Given the description of an element on the screen output the (x, y) to click on. 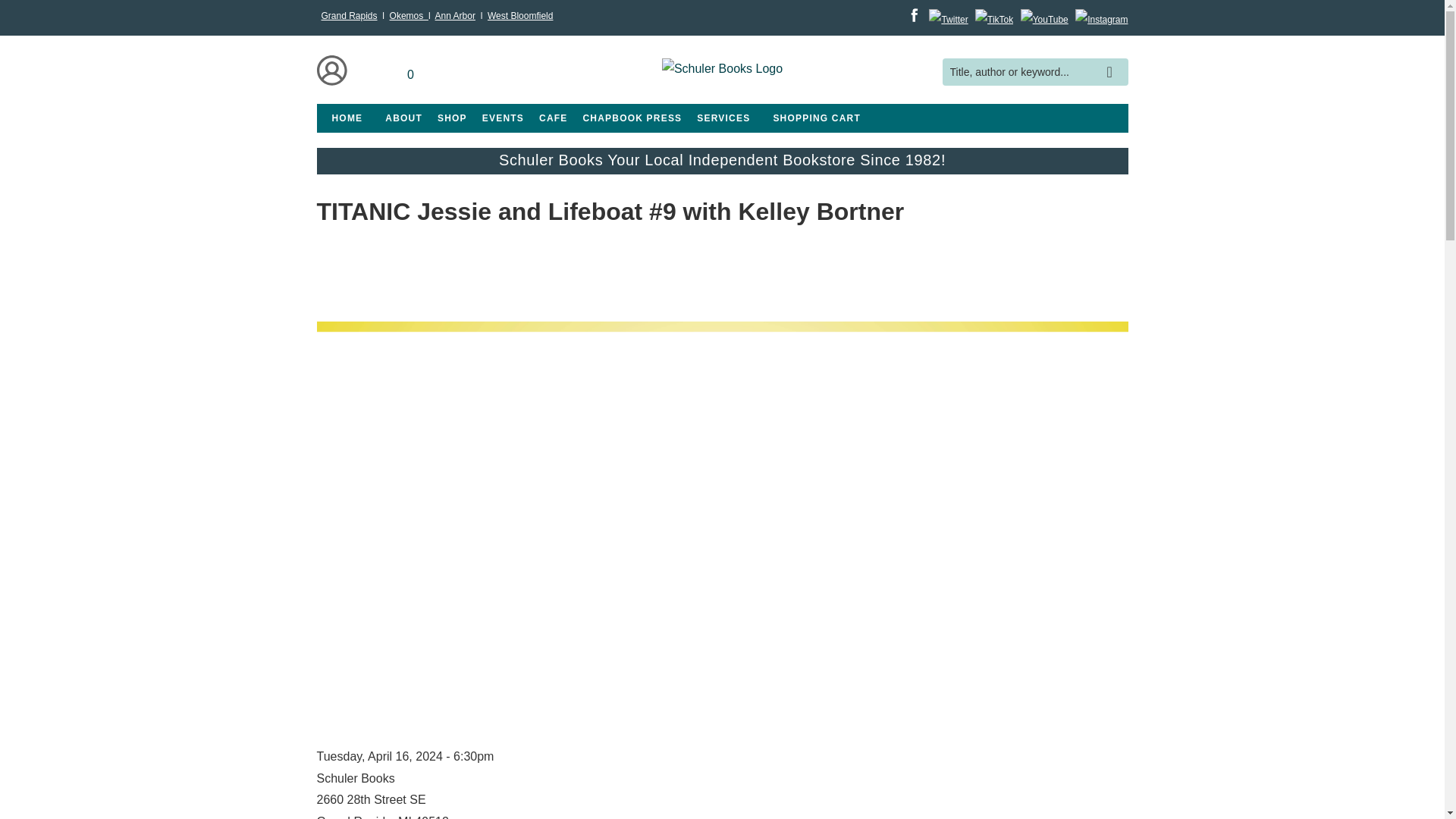
Ann Arbor (455, 15)
search (1112, 60)
SHOP (451, 118)
search (1112, 60)
West Bloomfield (520, 15)
Title, author or keyword... (1034, 72)
Okemos   (409, 15)
HOME (347, 118)
ABOUT (403, 118)
Home (722, 71)
